Given the description of an element on the screen output the (x, y) to click on. 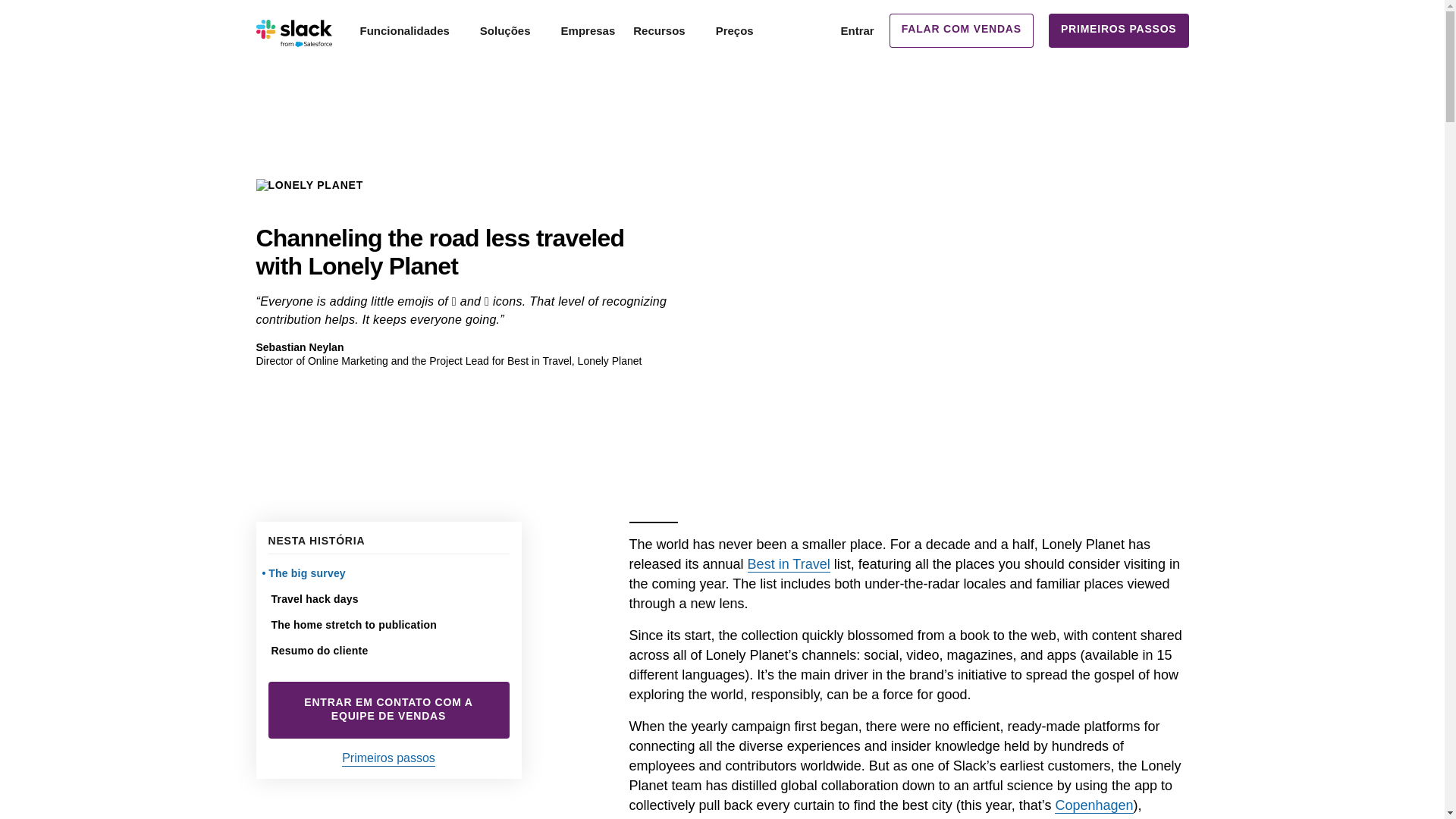
Funcionalidades (410, 30)
